Given the description of an element on the screen output the (x, y) to click on. 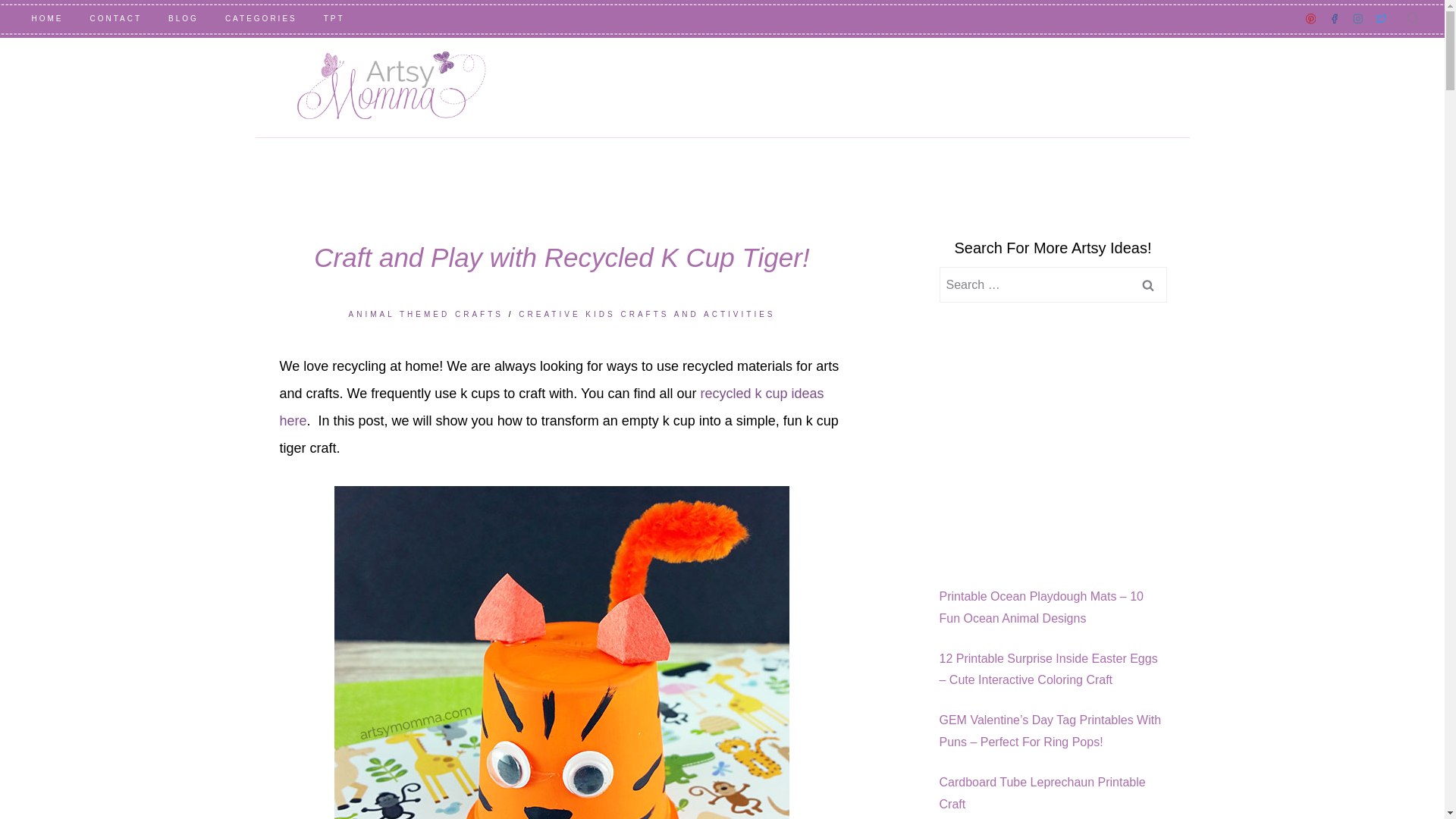
CONTACT (116, 18)
HOME (47, 18)
BLOG (183, 18)
CREATIVE KIDS CRAFTS AND ACTIVITIES (646, 314)
ANIMAL THEMED CRAFTS (426, 314)
Search (1147, 284)
TPT (334, 18)
CATEGORIES (260, 18)
Search (1147, 284)
